Given the description of an element on the screen output the (x, y) to click on. 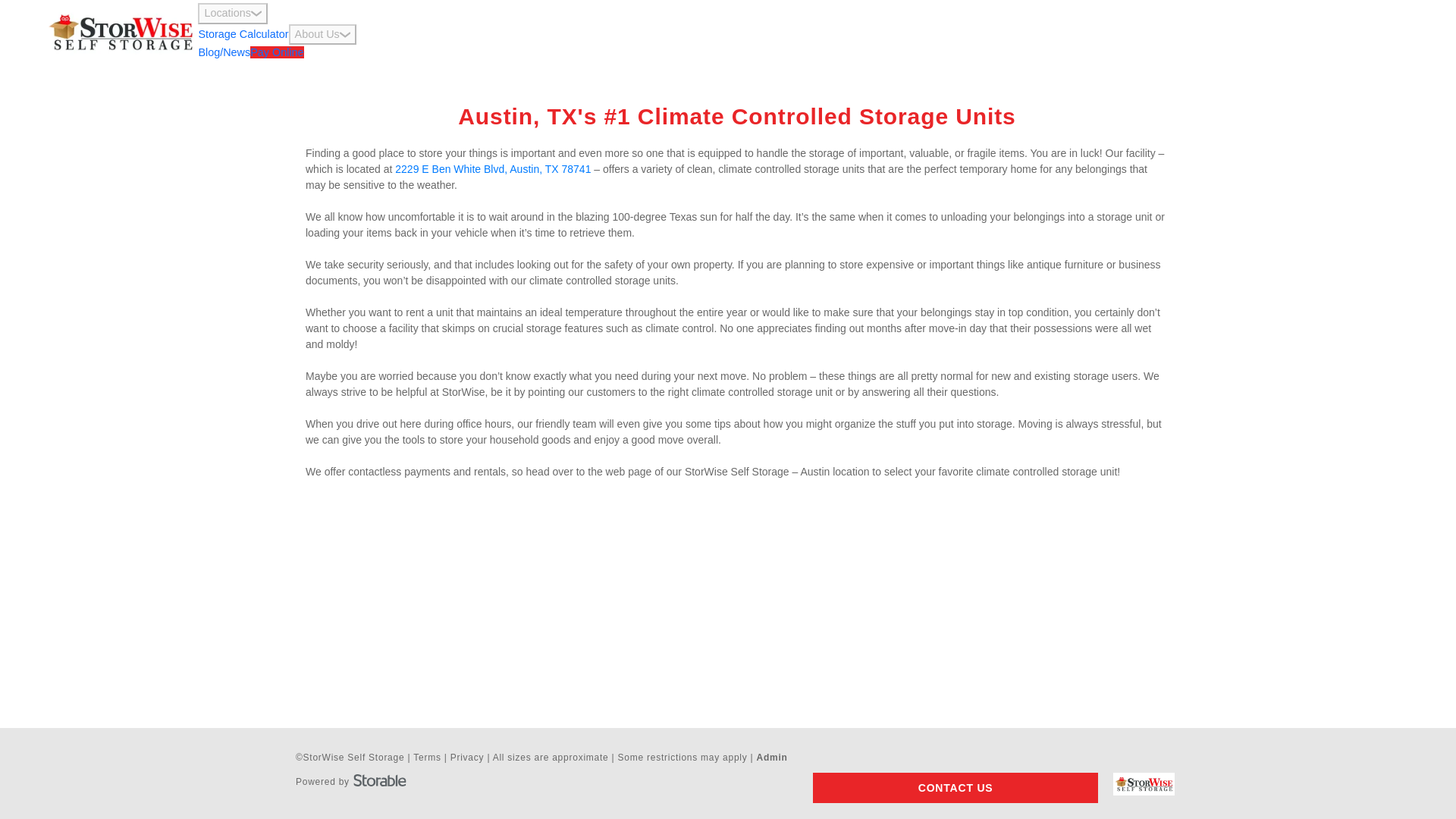
Pay Online (276, 51)
2229 E Ben White Blvd, Austin, TX 78741 (492, 168)
About Usgroup (322, 34)
Terms (427, 757)
CONTACT US (954, 788)
Privacy (466, 757)
Storage Calculator (243, 33)
Admin (772, 757)
Powered by (350, 778)
group (256, 13)
